Given the description of an element on the screen output the (x, y) to click on. 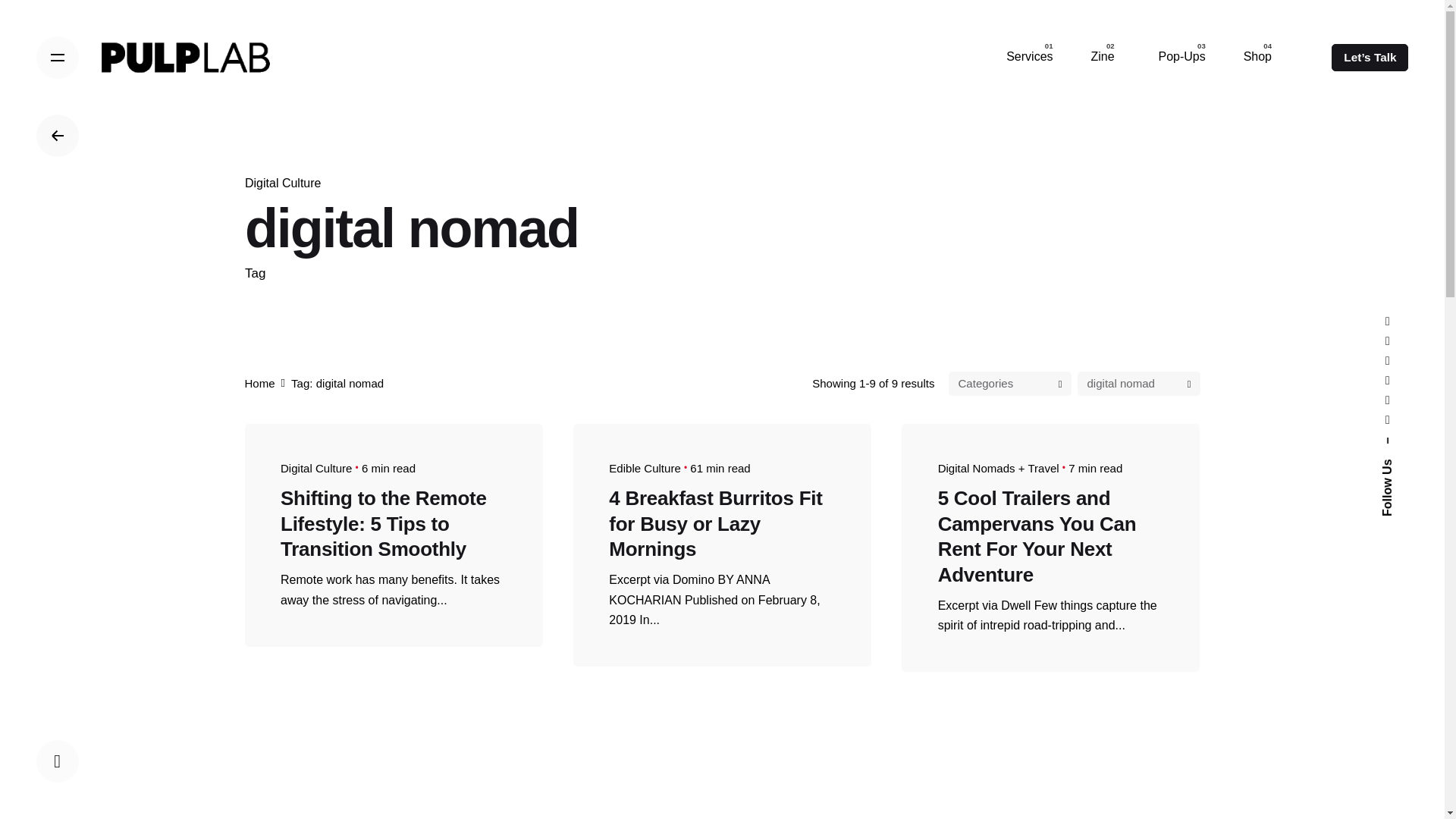
Services (1029, 57)
Shop (1257, 57)
Zine (1104, 57)
Pop-Ups (1182, 57)
